Given the description of an element on the screen output the (x, y) to click on. 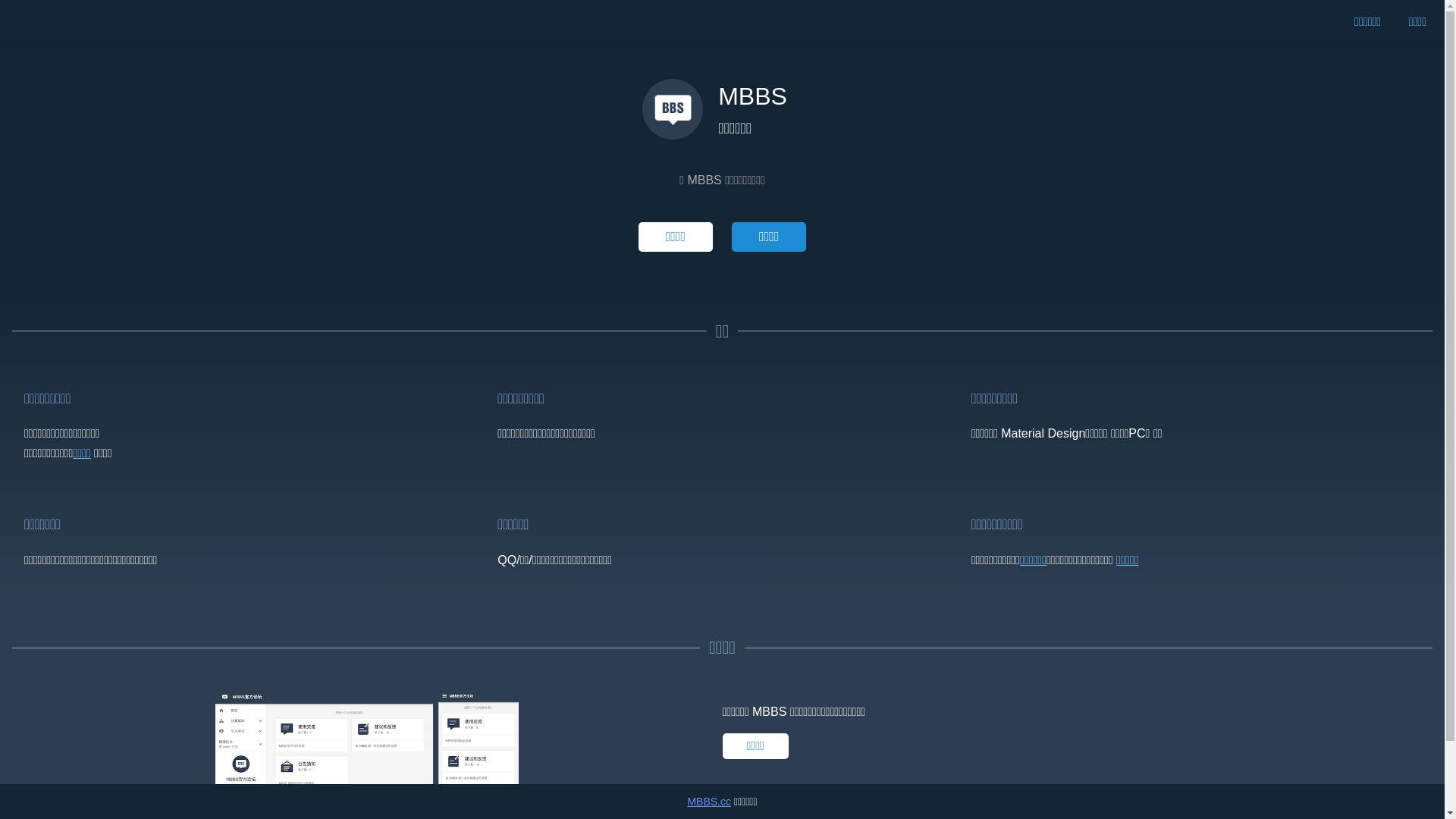
MBBS.cc Element type: text (709, 801)
